Given the description of an element on the screen output the (x, y) to click on. 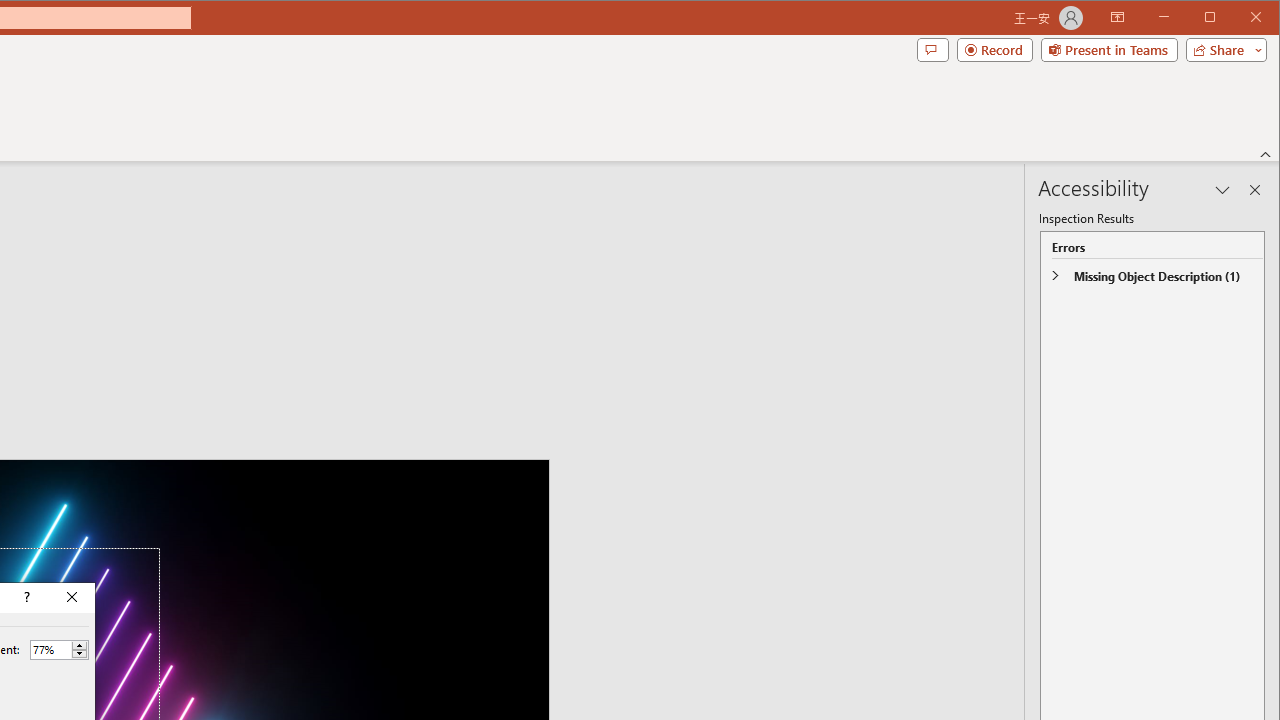
Context help (25, 597)
